Given the description of an element on the screen output the (x, y) to click on. 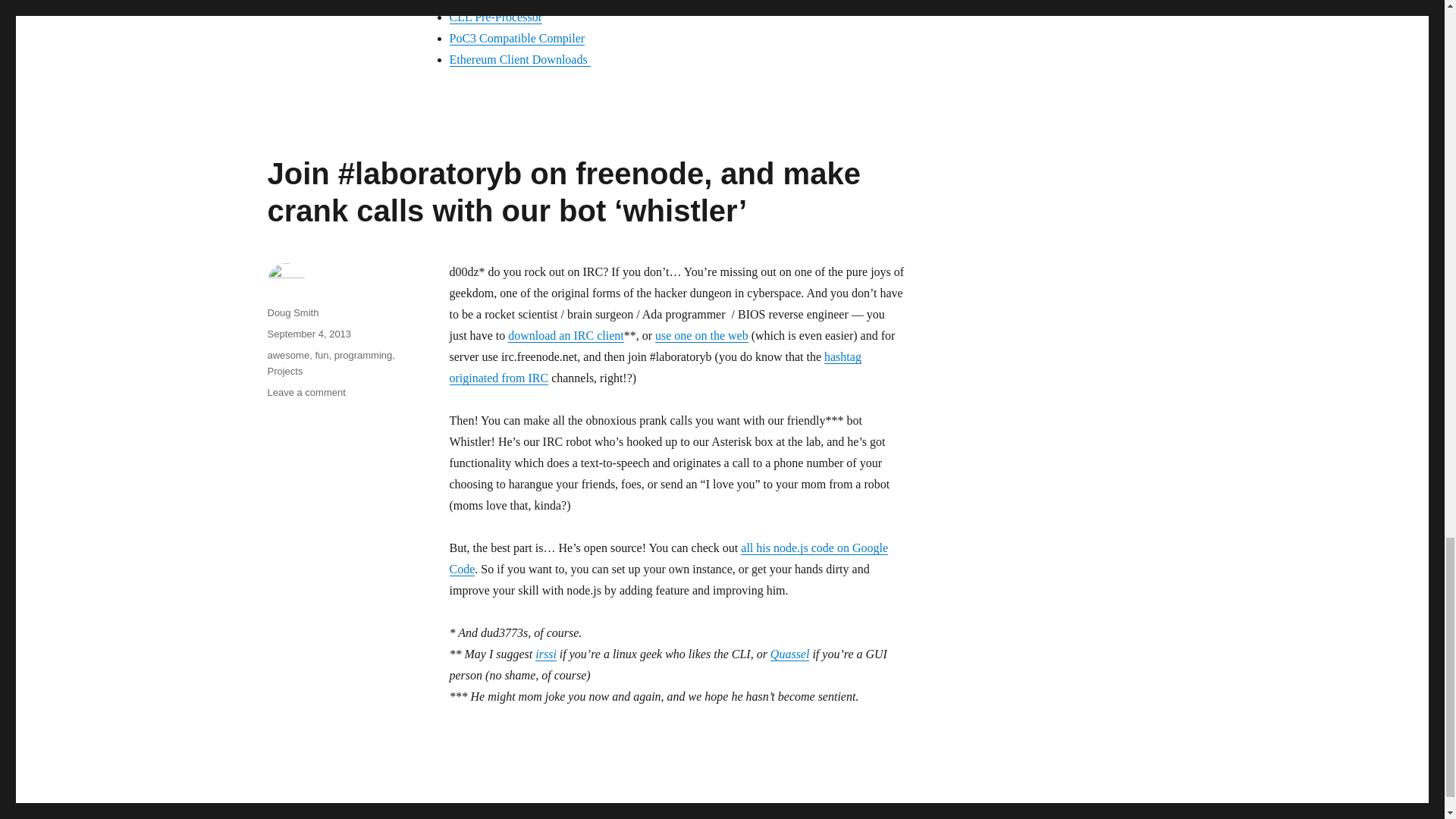
Pyramid Scheme (489, 1)
PoC3 Compatible Compiler (516, 38)
CLL Pre-Processor (494, 16)
Ethereum Client Downloads  (518, 59)
